Given the description of an element on the screen output the (x, y) to click on. 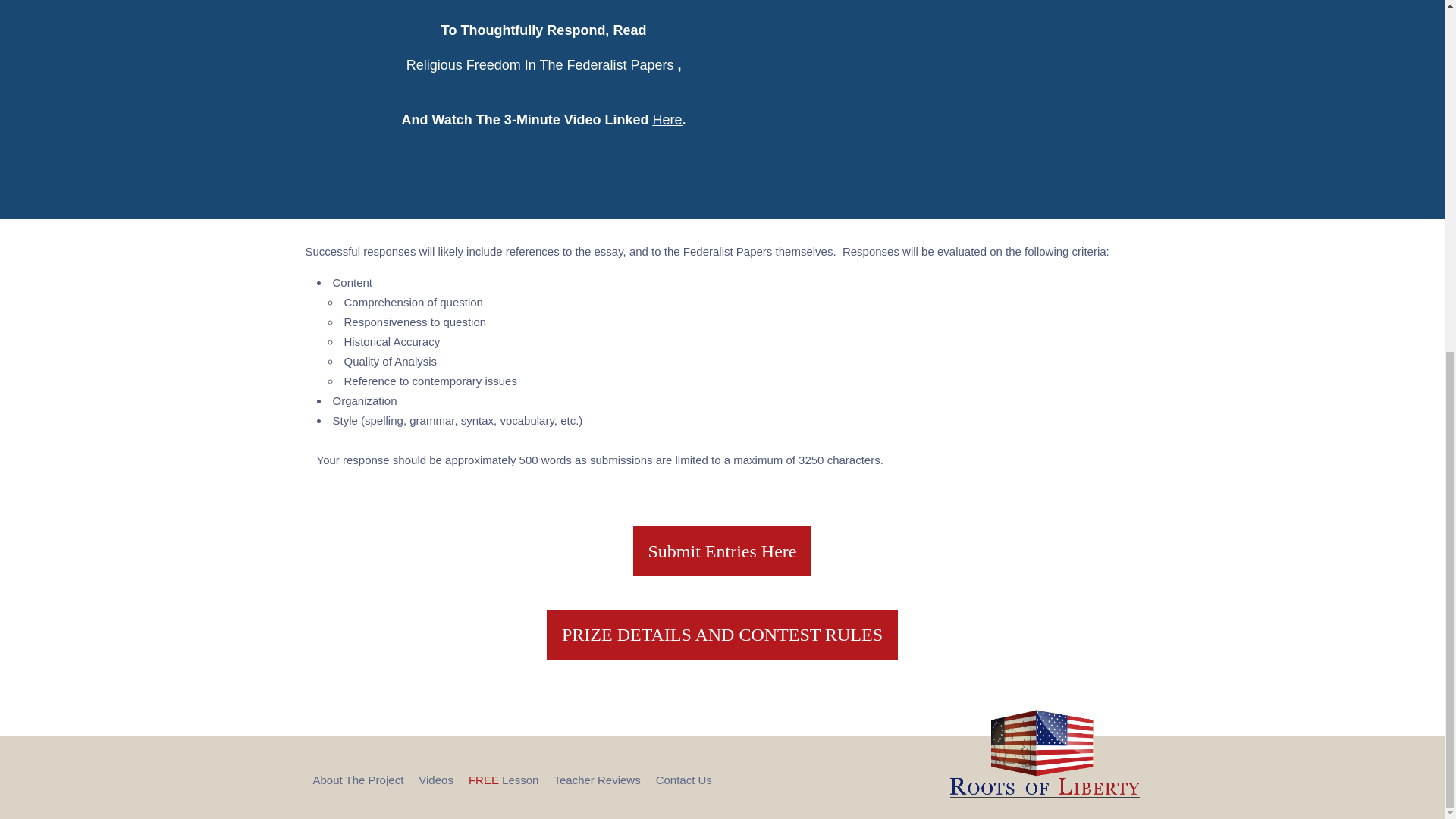
Teacher Reviews (596, 779)
Roots of Liberty - Lesson 10: Religious Freedom (972, 92)
PRIZE DETAILS AND CONTEST RULES (722, 634)
Religious Freedom In The Federalist Papers (540, 64)
Submit Entries Here (722, 551)
Videos (435, 779)
Here (667, 119)
Contact Us (683, 779)
About The Project (358, 779)
FREE Lesson (503, 779)
